Given the description of an element on the screen output the (x, y) to click on. 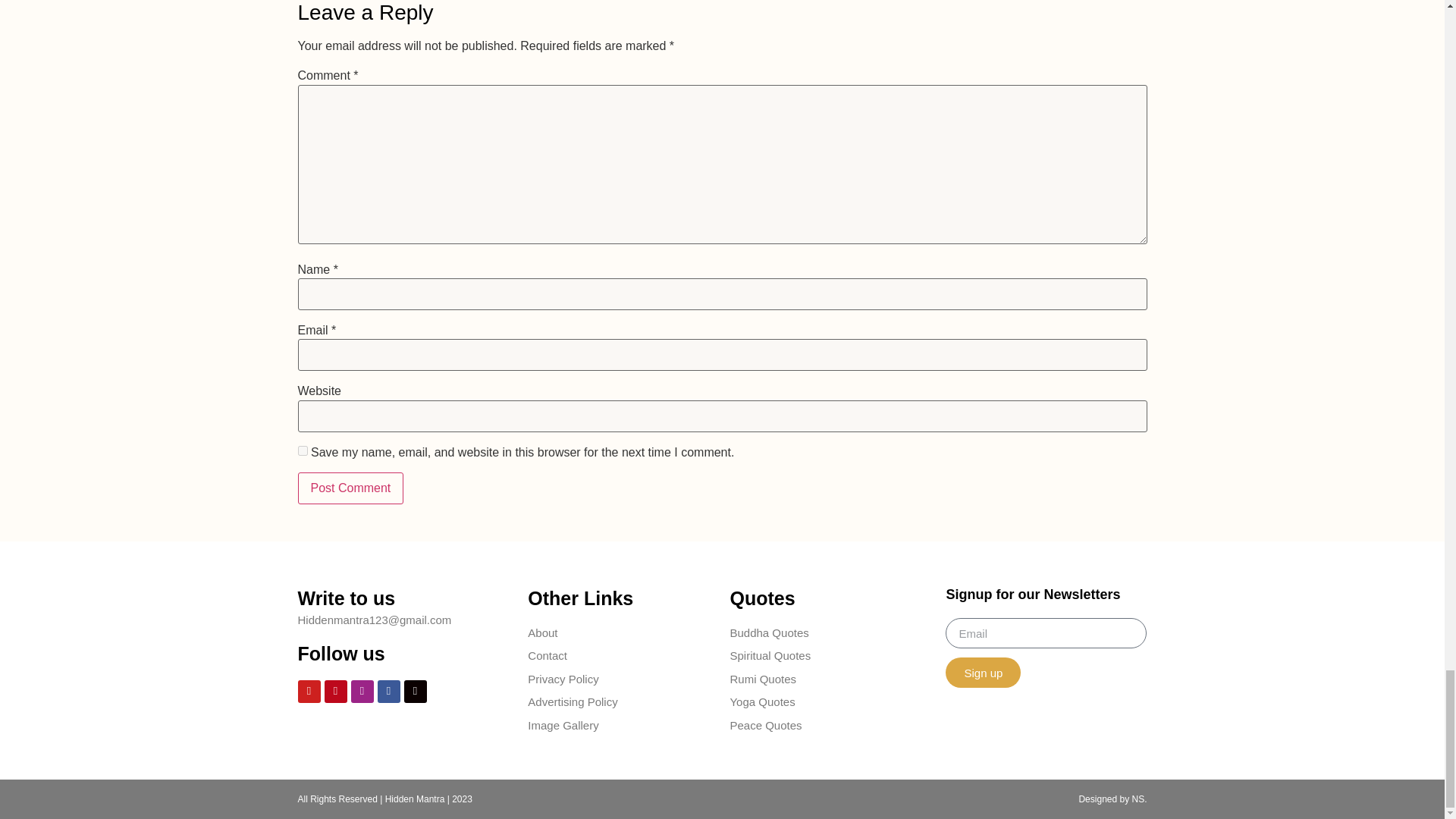
yes (302, 450)
Post Comment (350, 487)
